Given the description of an element on the screen output the (x, y) to click on. 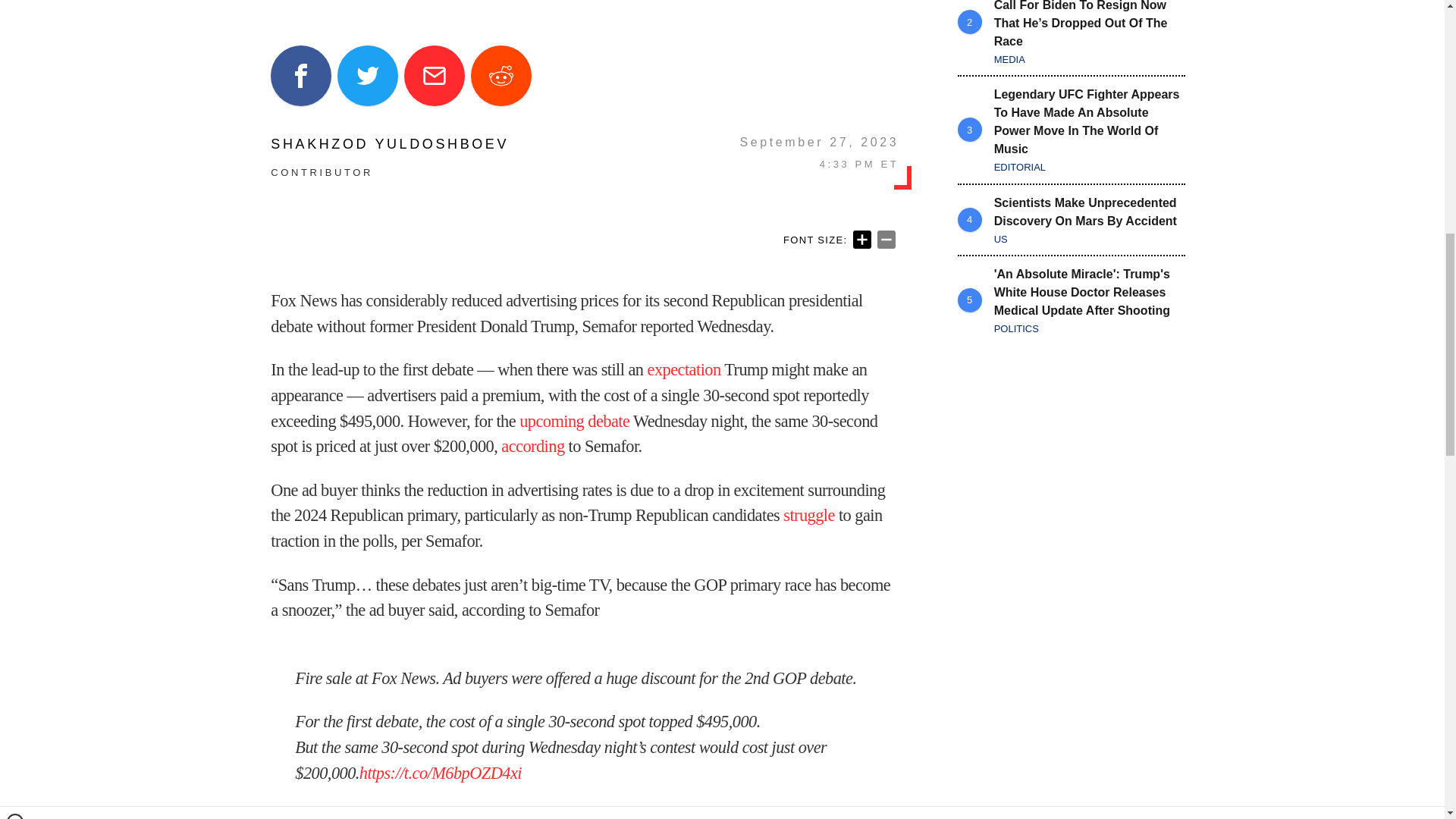
SHAKHZOD YULDOSHBOEV (389, 144)
upcoming debate (573, 420)
Close window (14, 6)
View More Articles By Shakhzod Yuldoshboev (389, 144)
expectation (683, 369)
